Given the description of an element on the screen output the (x, y) to click on. 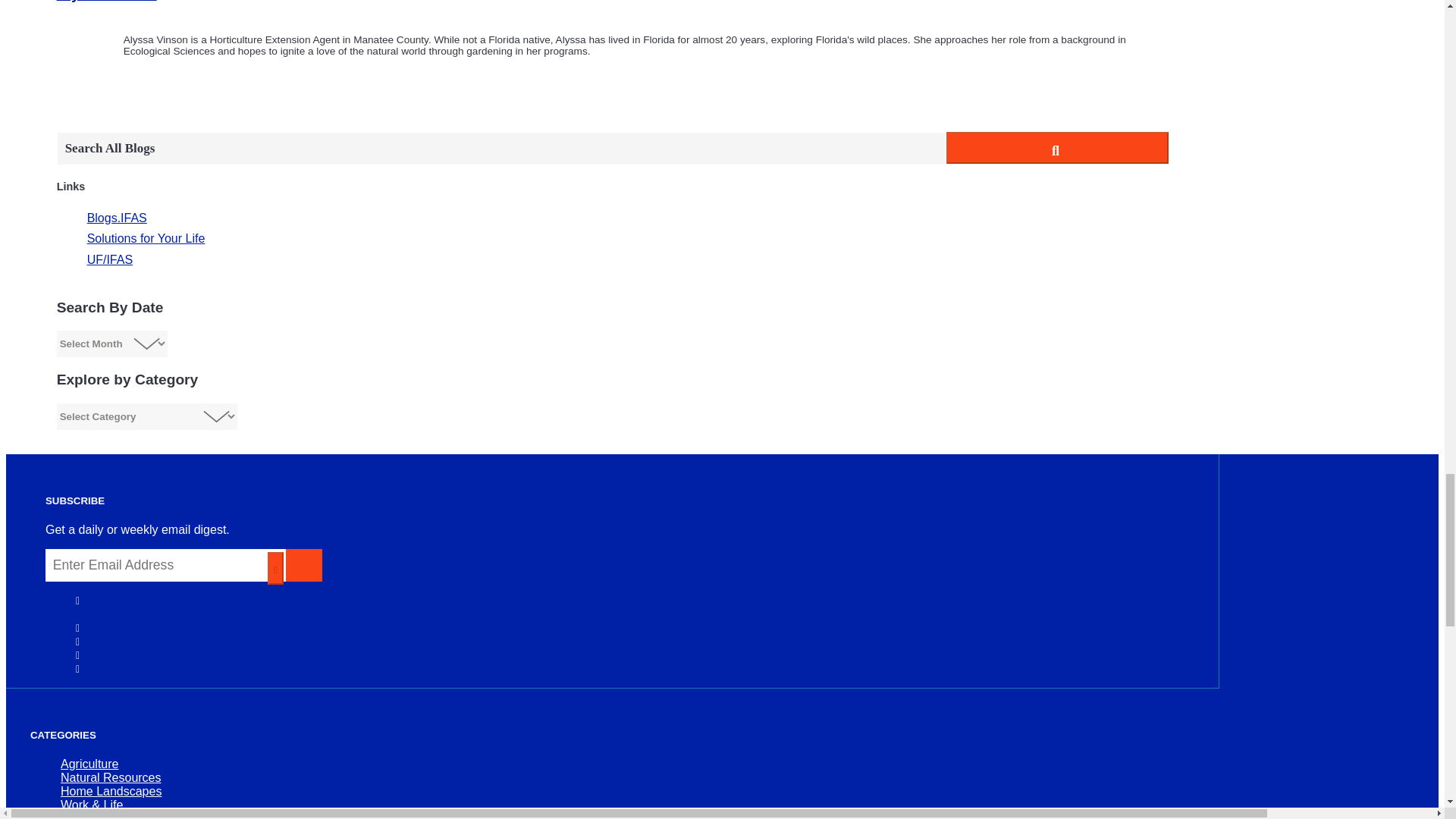
Search All Blogs (501, 148)
Enter Email Address (165, 564)
